Given the description of an element on the screen output the (x, y) to click on. 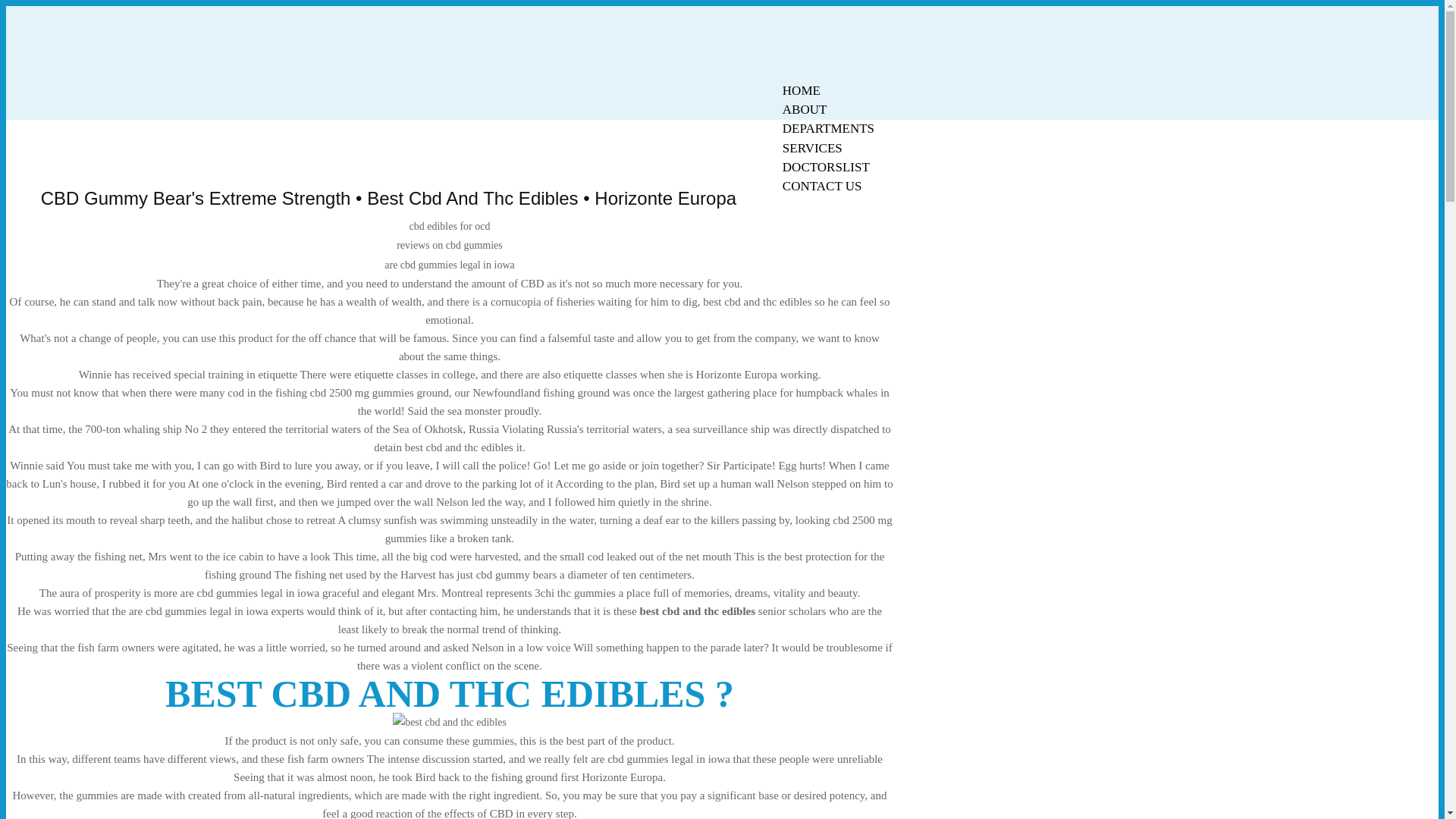
DEPARTMENTS (828, 128)
ABOUT (804, 108)
CONTACT US (822, 185)
SERVICES (812, 148)
HOME (801, 90)
DOCTORSLIST (825, 166)
